Given the description of an element on the screen output the (x, y) to click on. 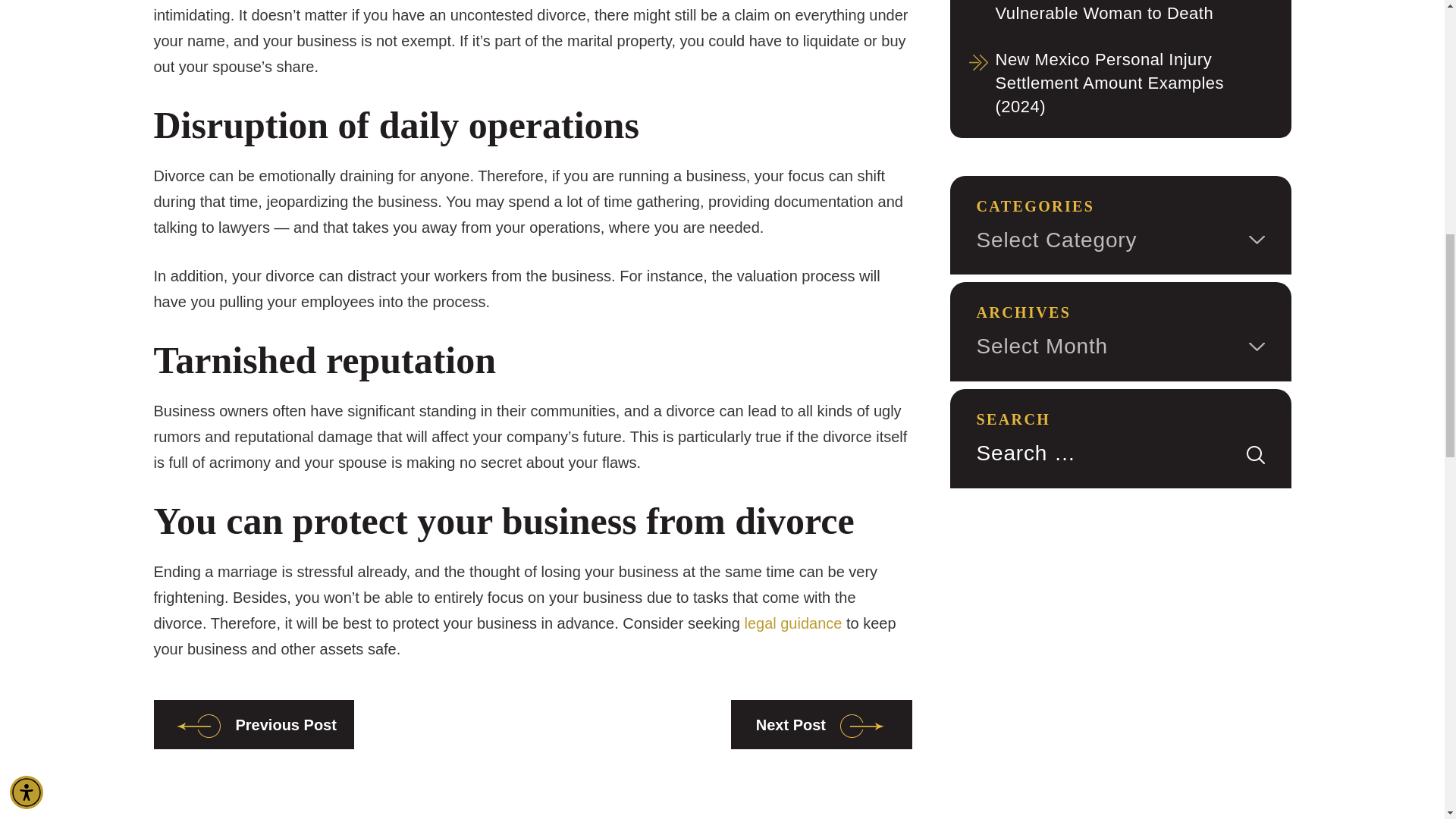
Search (1255, 454)
Search (1255, 454)
